Given the description of an element on the screen output the (x, y) to click on. 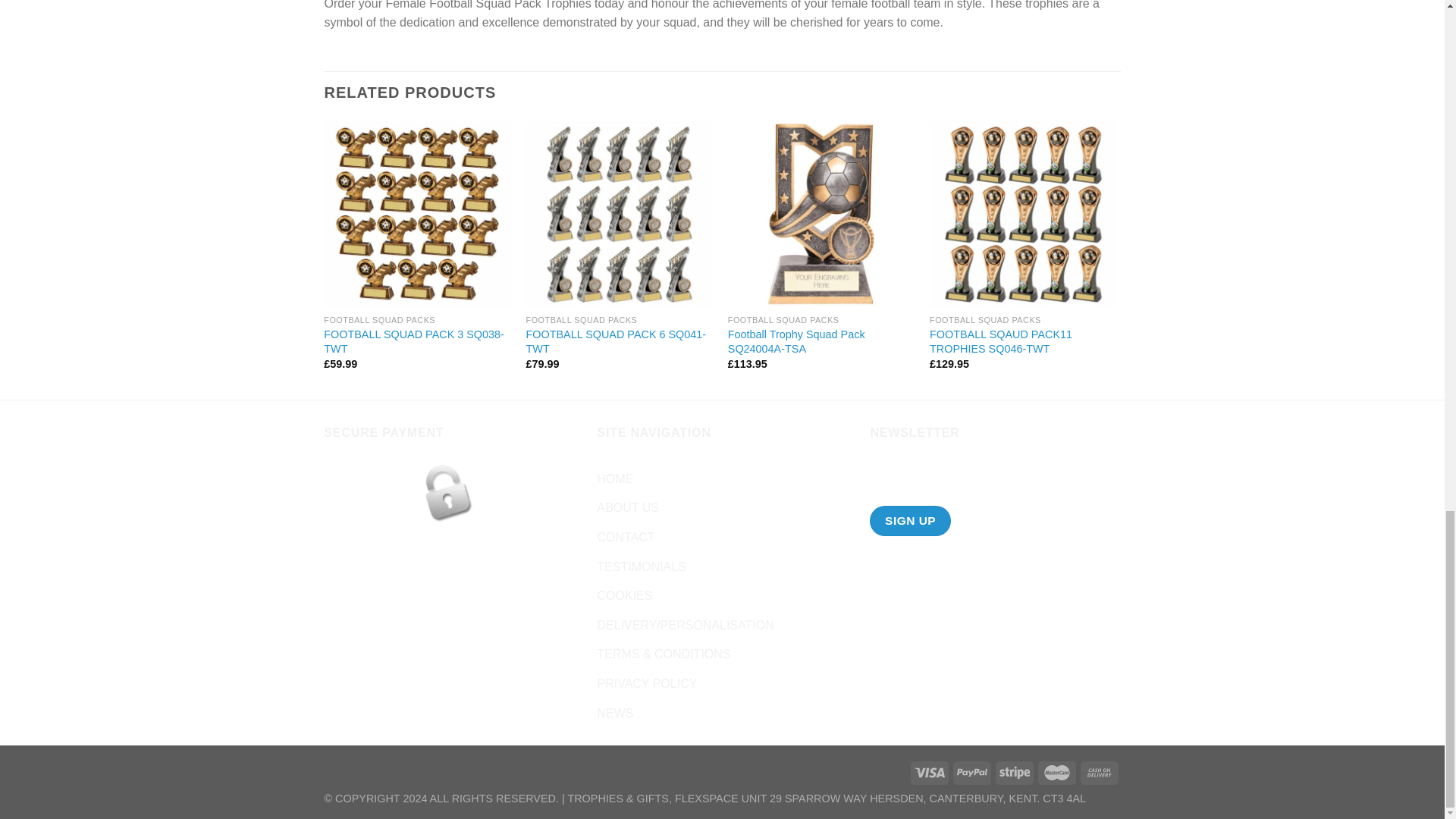
Sign Up (909, 520)
